Given the description of an element on the screen output the (x, y) to click on. 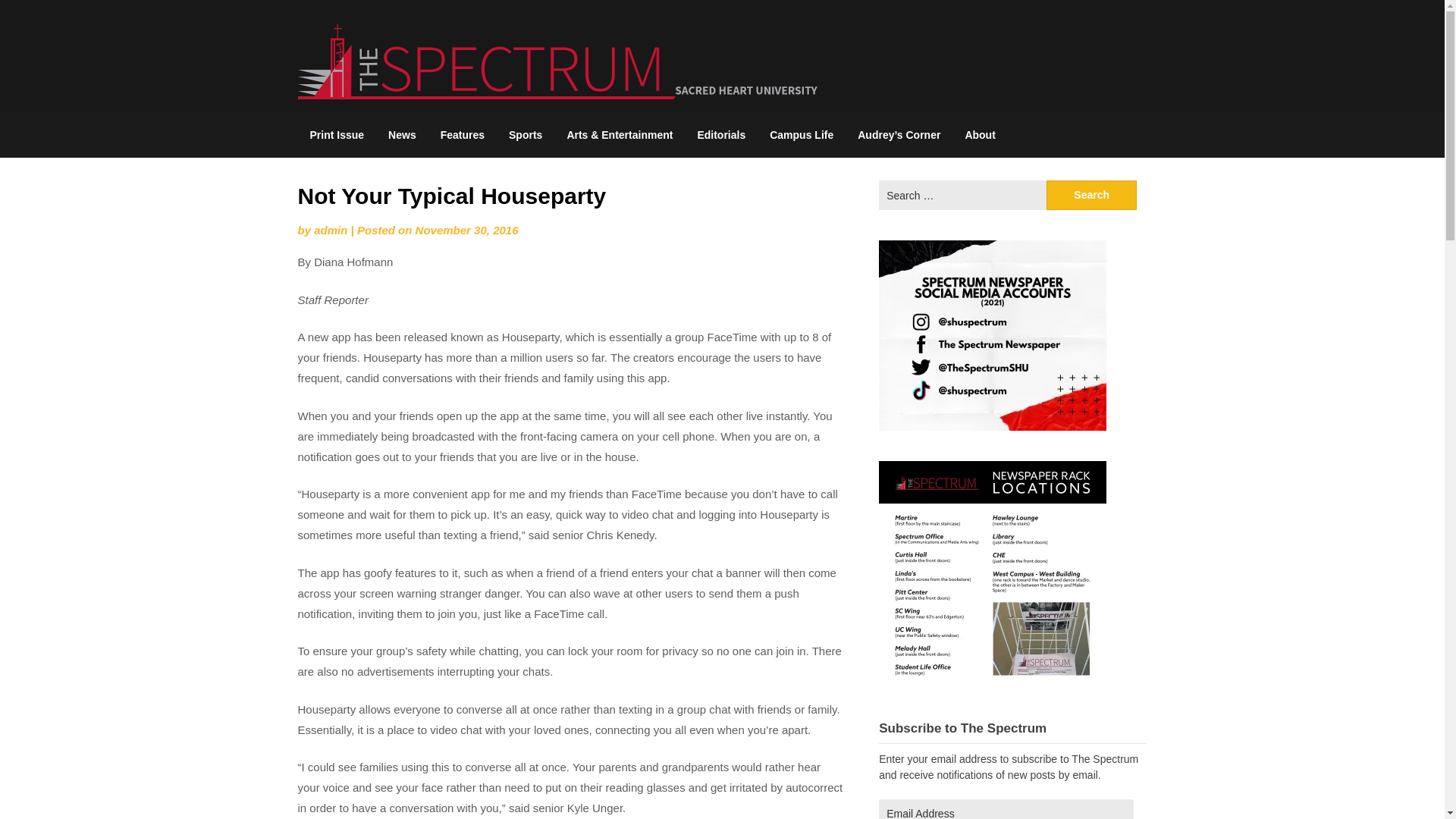
News (401, 135)
admin (330, 229)
Campus Life (801, 135)
Features (462, 135)
November 30, 2016 (466, 229)
Search (1091, 194)
Sports (525, 135)
About (979, 135)
Editorials (720, 135)
Search (1091, 194)
Print Issue (336, 135)
